Given the description of an element on the screen output the (x, y) to click on. 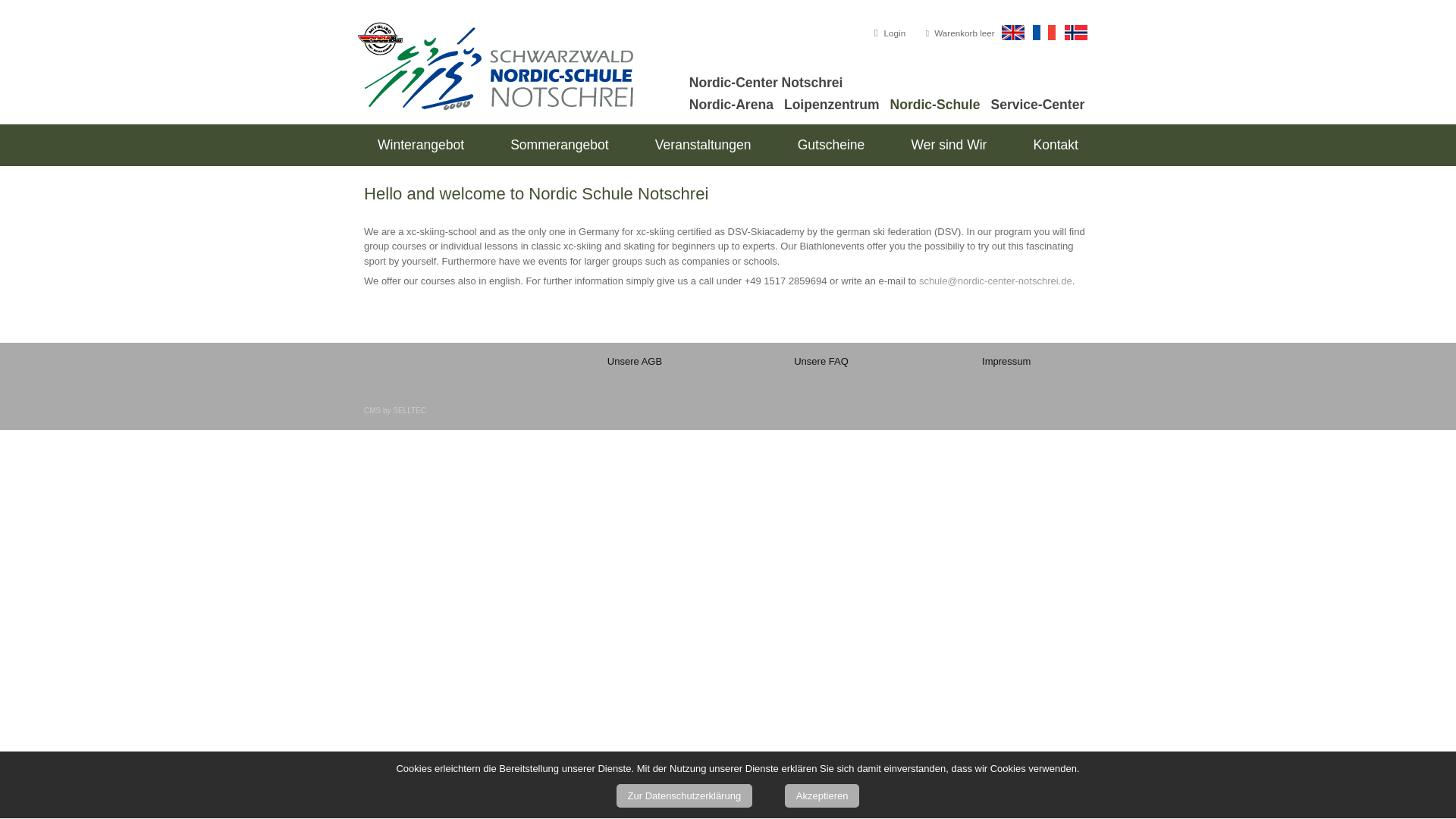
Wer sind Wir (948, 145)
Norwegen (1075, 31)
Loipenzentrum (831, 104)
CMS by SELLTEC (395, 410)
Sommerangebot (559, 145)
Kontakt (1056, 145)
Service-Center (1037, 104)
Englisch (1013, 31)
Unsere FAQ (820, 360)
Gutscheine (831, 145)
